Given the description of an element on the screen output the (x, y) to click on. 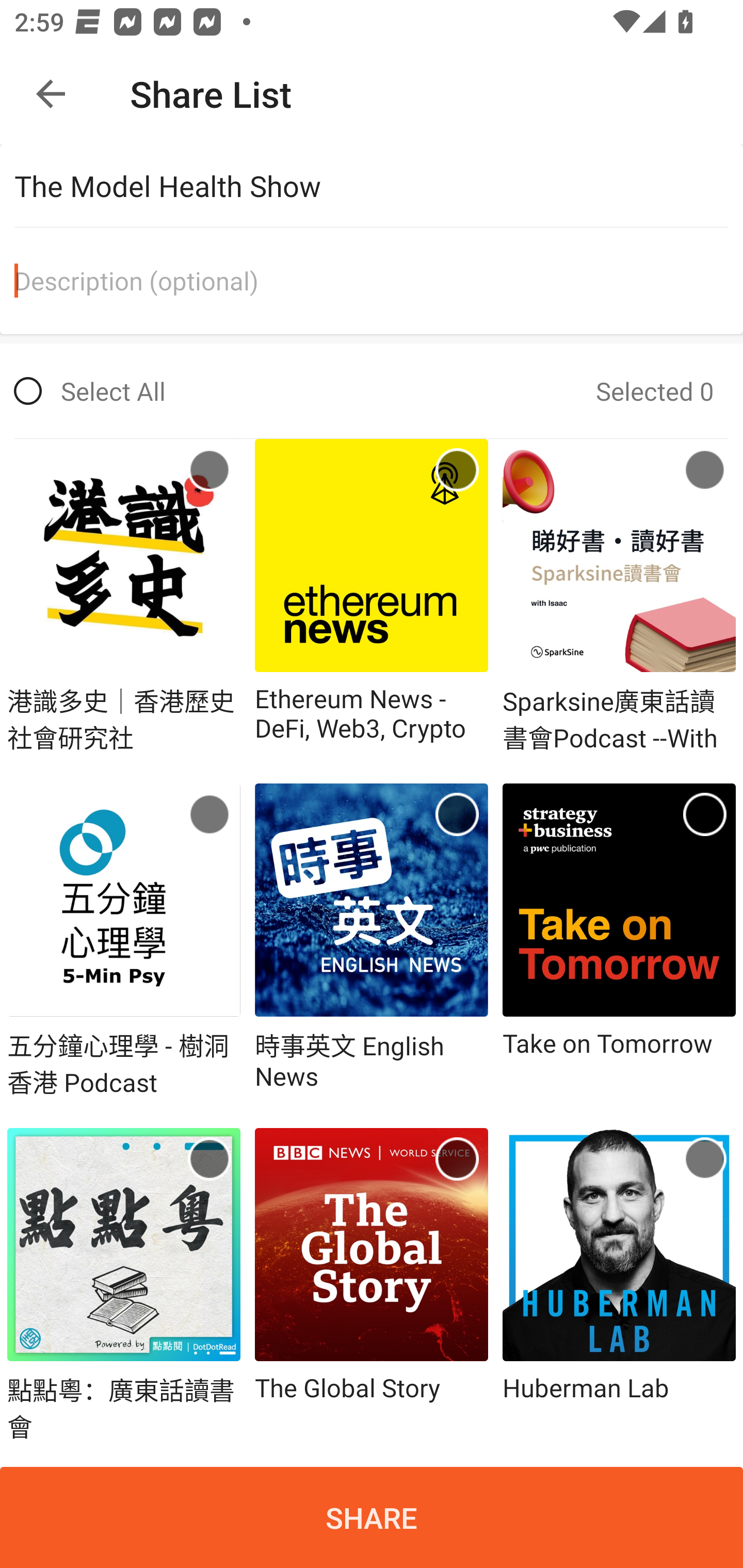
Navigate up (50, 93)
The Model Health Show (378, 185)
Description (optional) (378, 280)
Select All (89, 391)
港識多史｜香港歷史社會研究社 (123, 596)
Ethereum News - DeFi, Web3, Crypto (371, 596)
Sparksine廣東話讀書會Podcast --With Isaac (618, 596)
五分鐘心理學 - 樹洞香港 Podcast (123, 941)
時事英文 English News (371, 941)
Take on Tomorrow (618, 941)
點點粵：廣東話讀書會 (123, 1285)
The Global Story (371, 1285)
Huberman Lab (618, 1285)
SHARE (371, 1517)
